Given the description of an element on the screen output the (x, y) to click on. 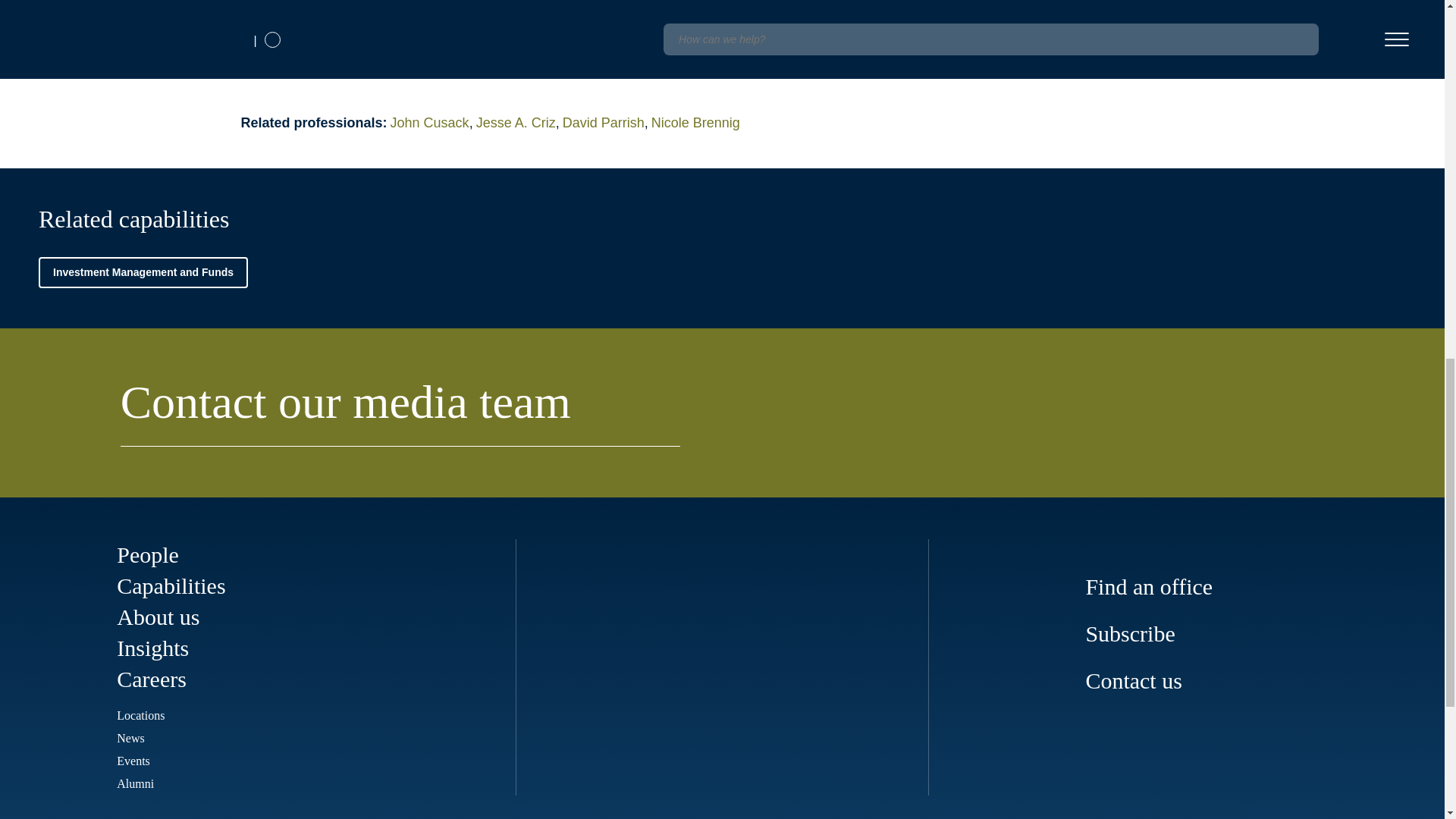
Investment Management and Funds (143, 272)
News (130, 738)
Jesse A. Criz (519, 122)
Capabilities (170, 585)
David Parrish (606, 122)
Alumni (135, 783)
Nicole Brennig (696, 122)
Contact our media team (400, 410)
Insights (152, 647)
Events (132, 760)
Locations (140, 715)
People (147, 554)
Careers (151, 678)
About us (157, 616)
John Cusack (433, 122)
